Given the description of an element on the screen output the (x, y) to click on. 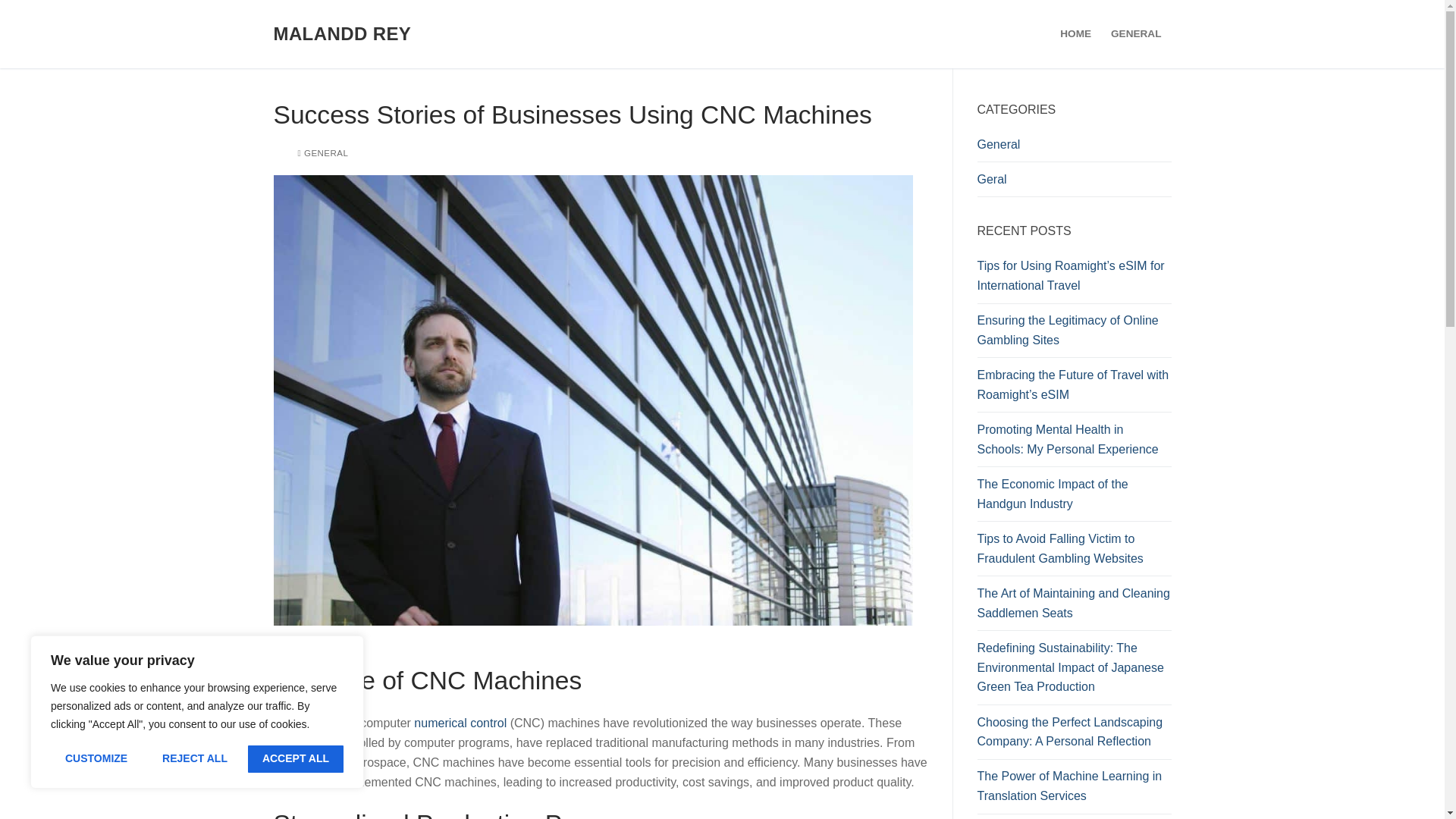
GENERAL (322, 153)
REJECT ALL (194, 759)
CUSTOMIZE (95, 759)
ACCEPT ALL (295, 759)
GENERAL (1135, 33)
MALANDD REY (341, 33)
Ensuring the Legitimacy of Online Gambling Sites (1073, 334)
Promoting Mental Health in Schools: My Personal Experience (1073, 443)
General (1073, 148)
numerical control (459, 722)
Geral (1073, 183)
